Given the description of an element on the screen output the (x, y) to click on. 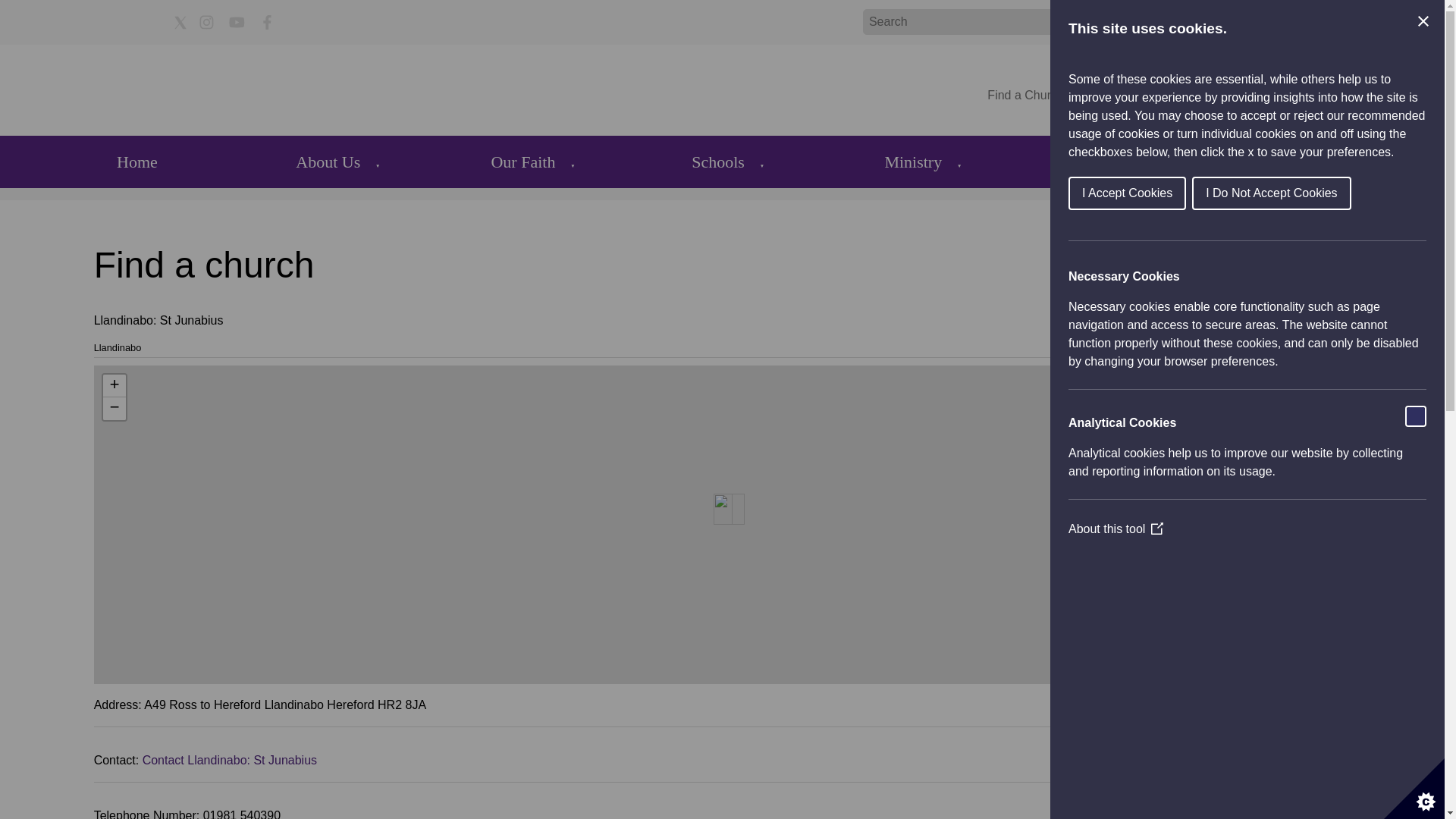
Safeguarding (1188, 94)
Zoom in (114, 385)
Find a Church (1025, 94)
Vacancies (1107, 94)
Logo (158, 89)
Your Data (1320, 94)
